Given the description of an element on the screen output the (x, y) to click on. 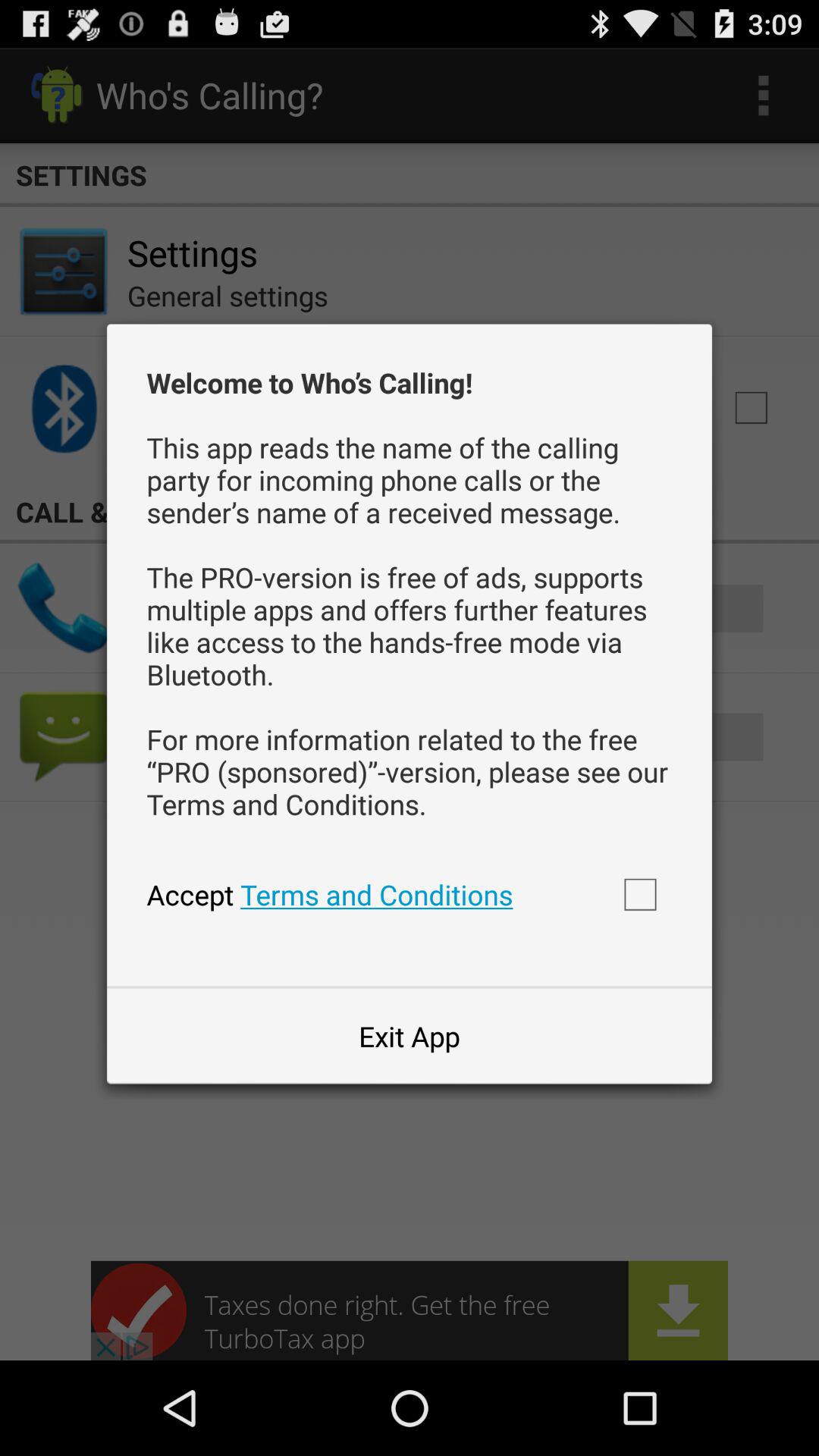
accept terms and conditions (640, 894)
